Given the description of an element on the screen output the (x, y) to click on. 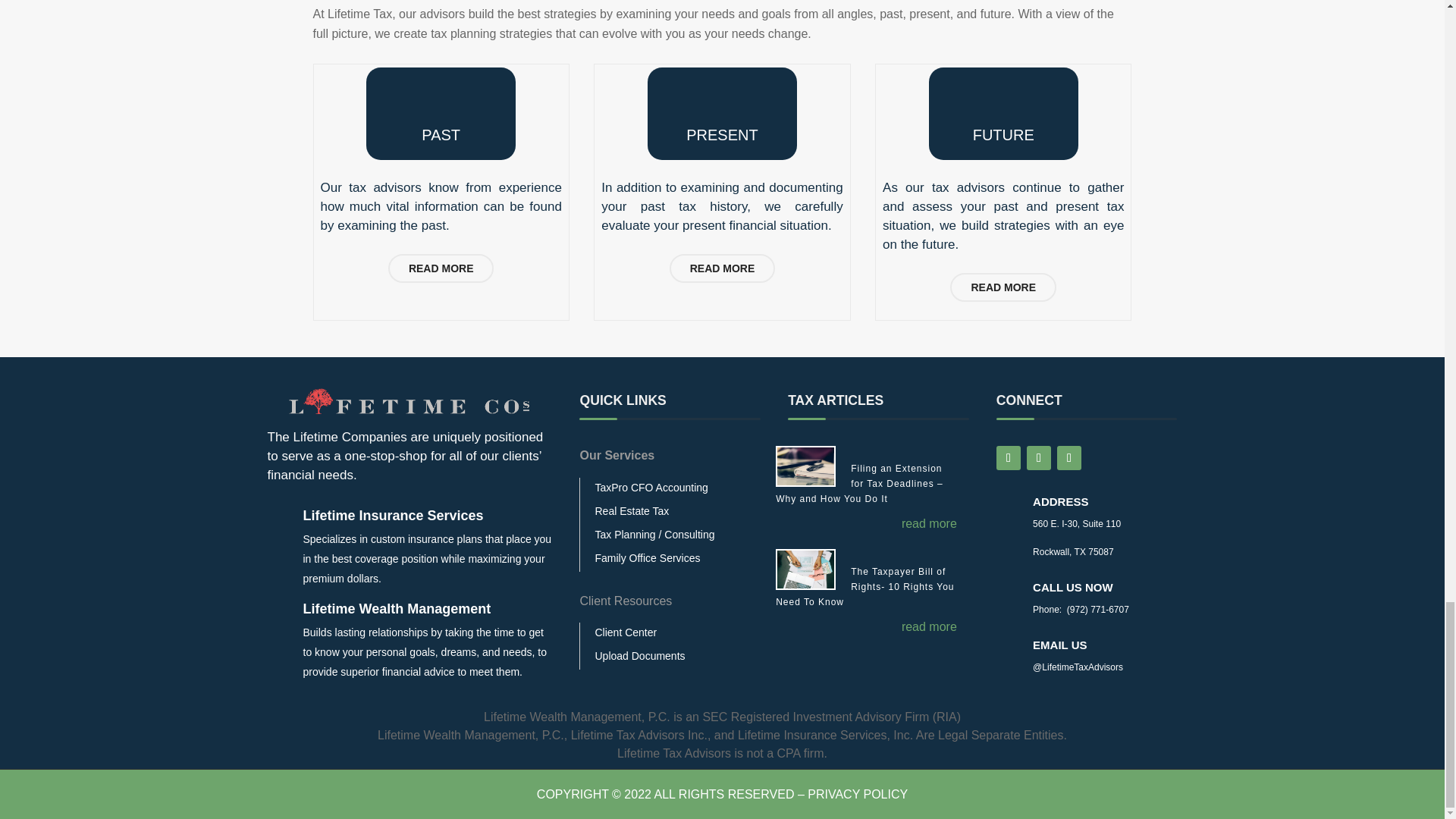
Follow on LinkedIn (1069, 457)
Follow on Instagram (1038, 457)
Follow on Facebook (1007, 457)
Lifetime Cos Alt (409, 401)
